Given the description of an element on the screen output the (x, y) to click on. 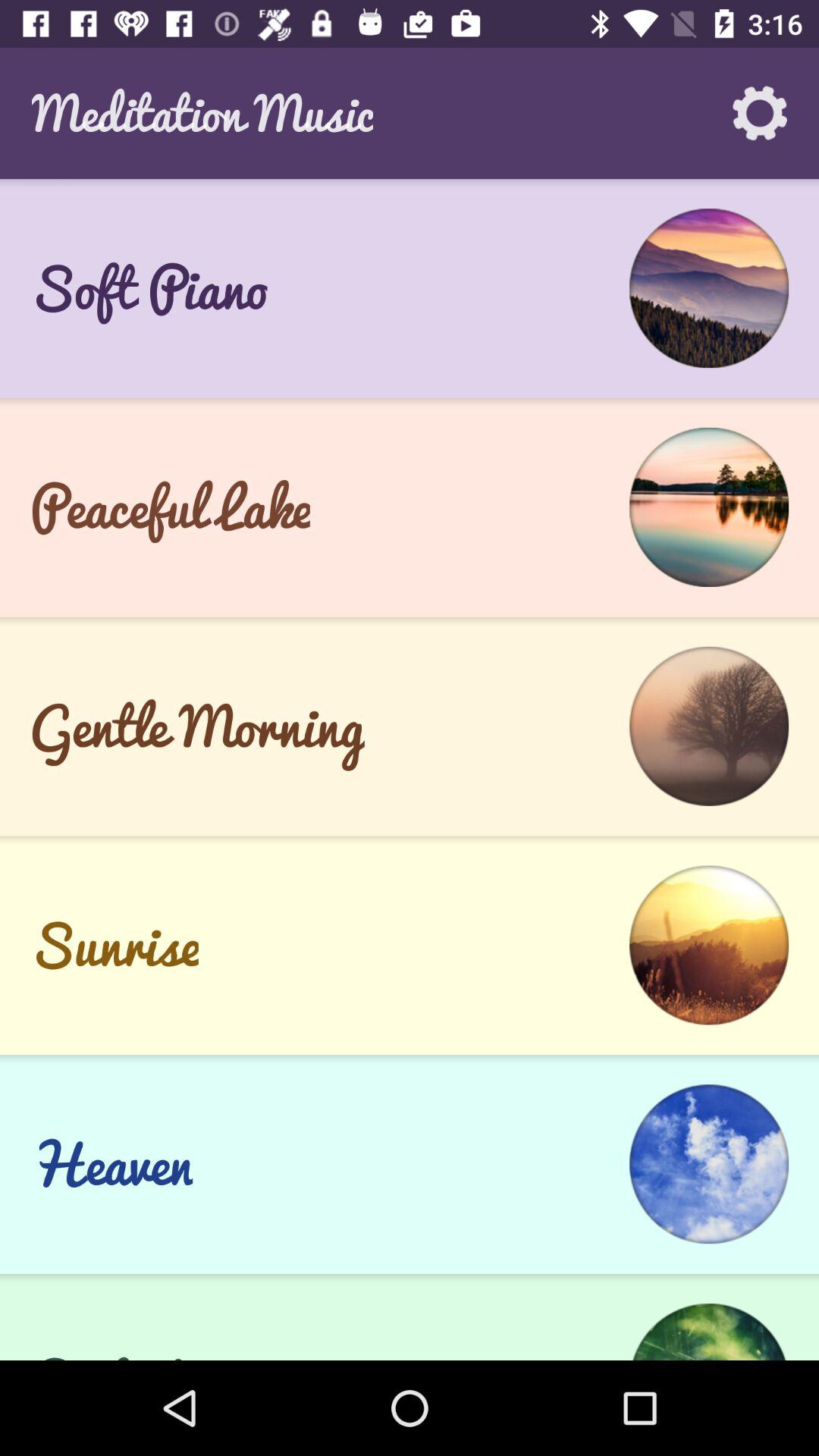
click the app below meditation music item (409, 186)
